Given the description of an element on the screen output the (x, y) to click on. 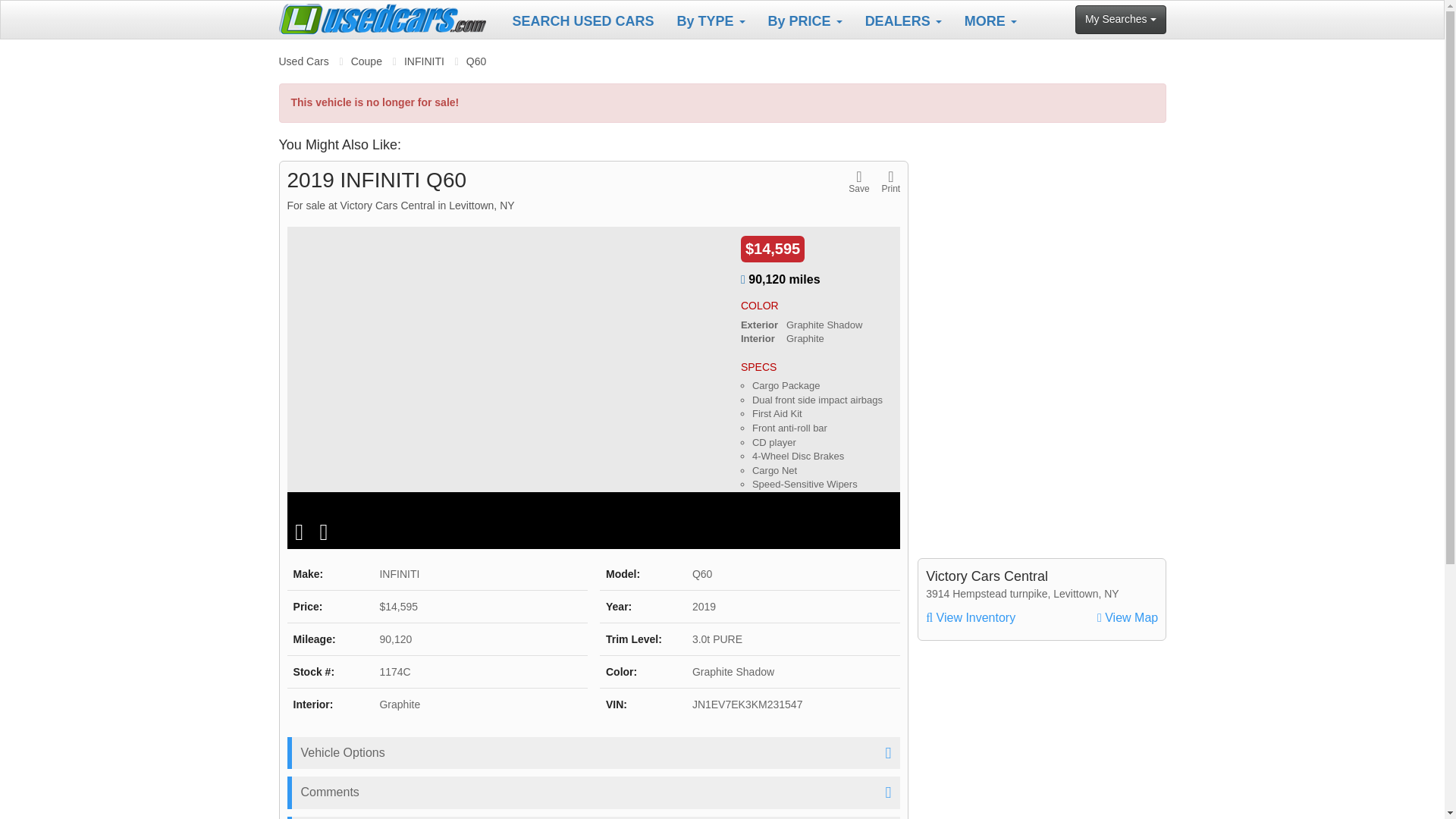
Coupe (365, 61)
MORE (990, 19)
INFINITI (424, 61)
DEALERS (903, 19)
My Searches (1120, 19)
Q60 (475, 61)
Used Cars (304, 61)
By TYPE (711, 19)
SEARCH USED CARS (582, 19)
By PRICE (805, 19)
